Given the description of an element on the screen output the (x, y) to click on. 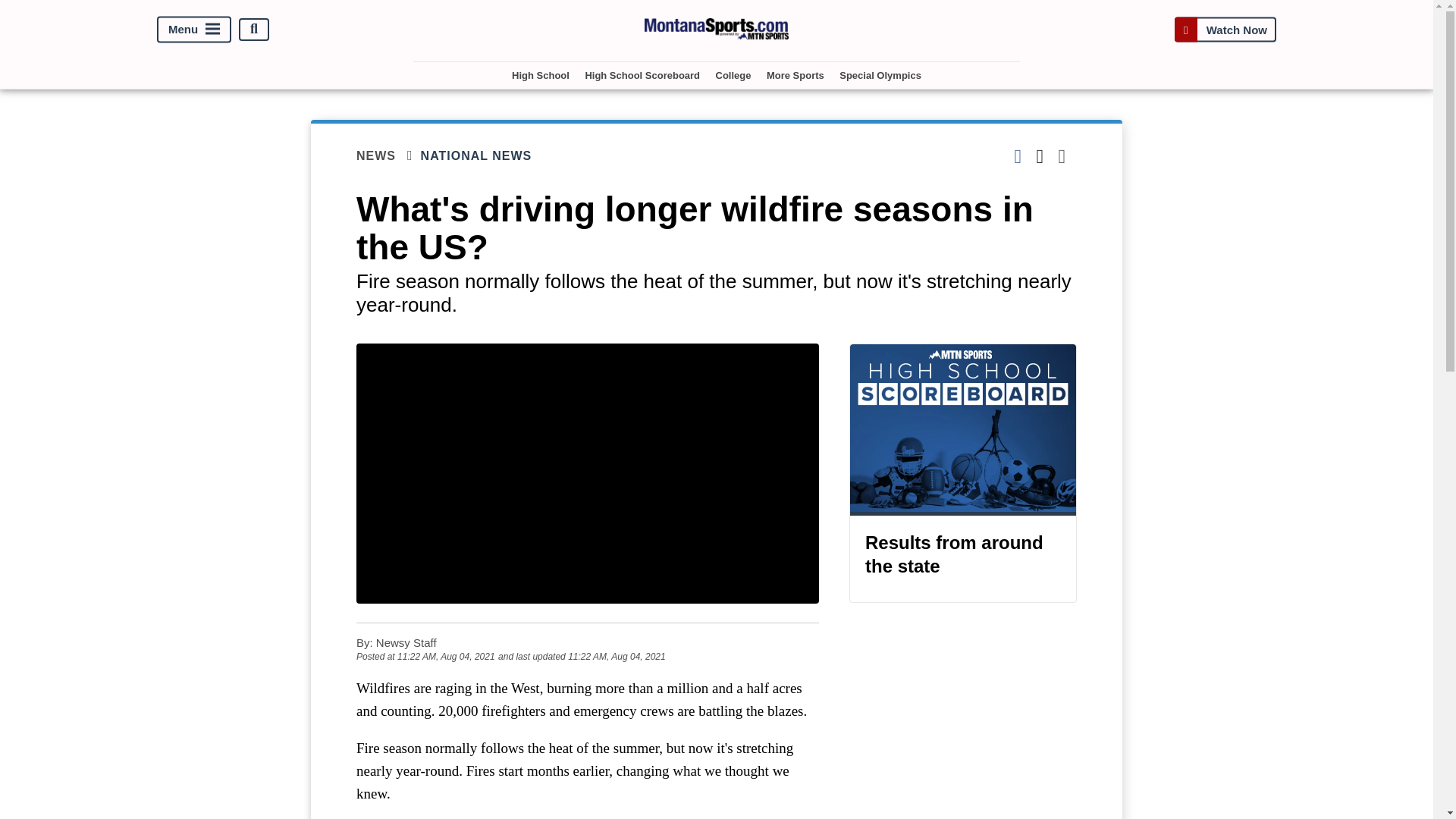
Menu (194, 28)
Watch Now (1224, 29)
